Given the description of an element on the screen output the (x, y) to click on. 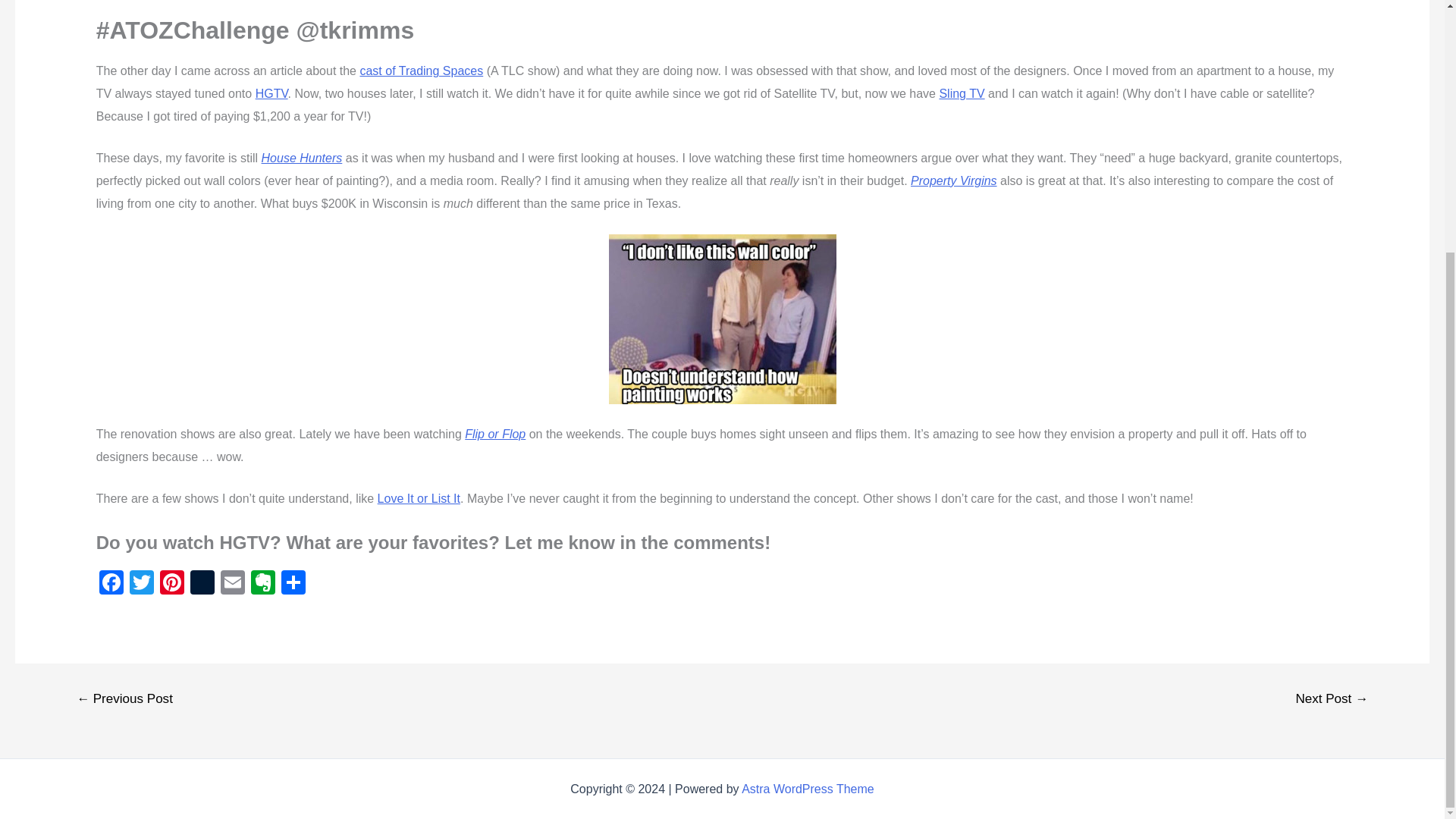
Pinterest (172, 584)
Twitter (141, 584)
Evernote (262, 584)
Facebook (111, 584)
Email (231, 584)
Tumblr (201, 584)
